Given the description of an element on the screen output the (x, y) to click on. 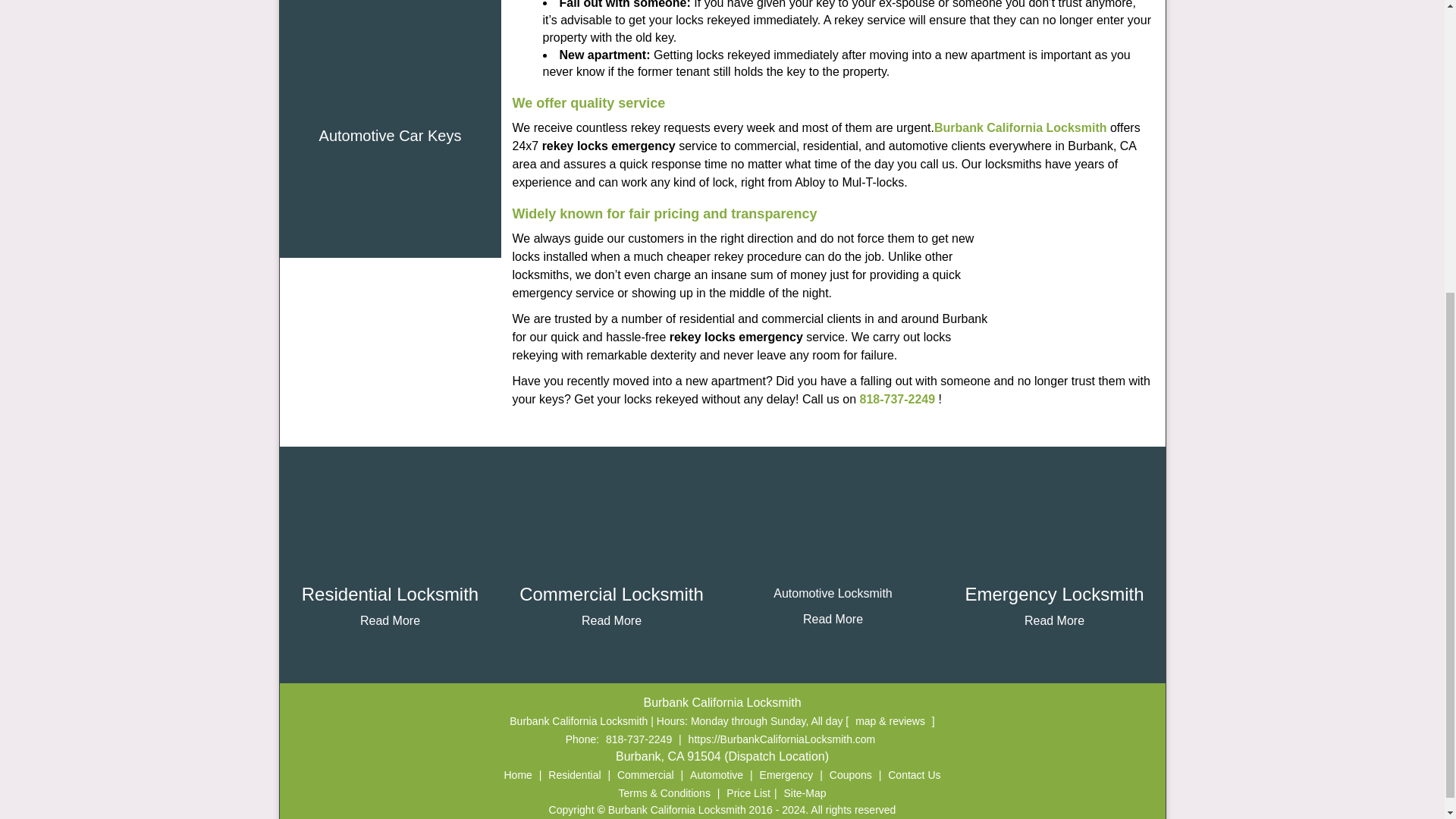
Read More (389, 620)
818-737-2249 (898, 399)
Burbank California Locksmith (1020, 127)
Read More (611, 620)
Residential Locksmith (390, 593)
Commercial Locksmith (611, 593)
